Given the description of an element on the screen output the (x, y) to click on. 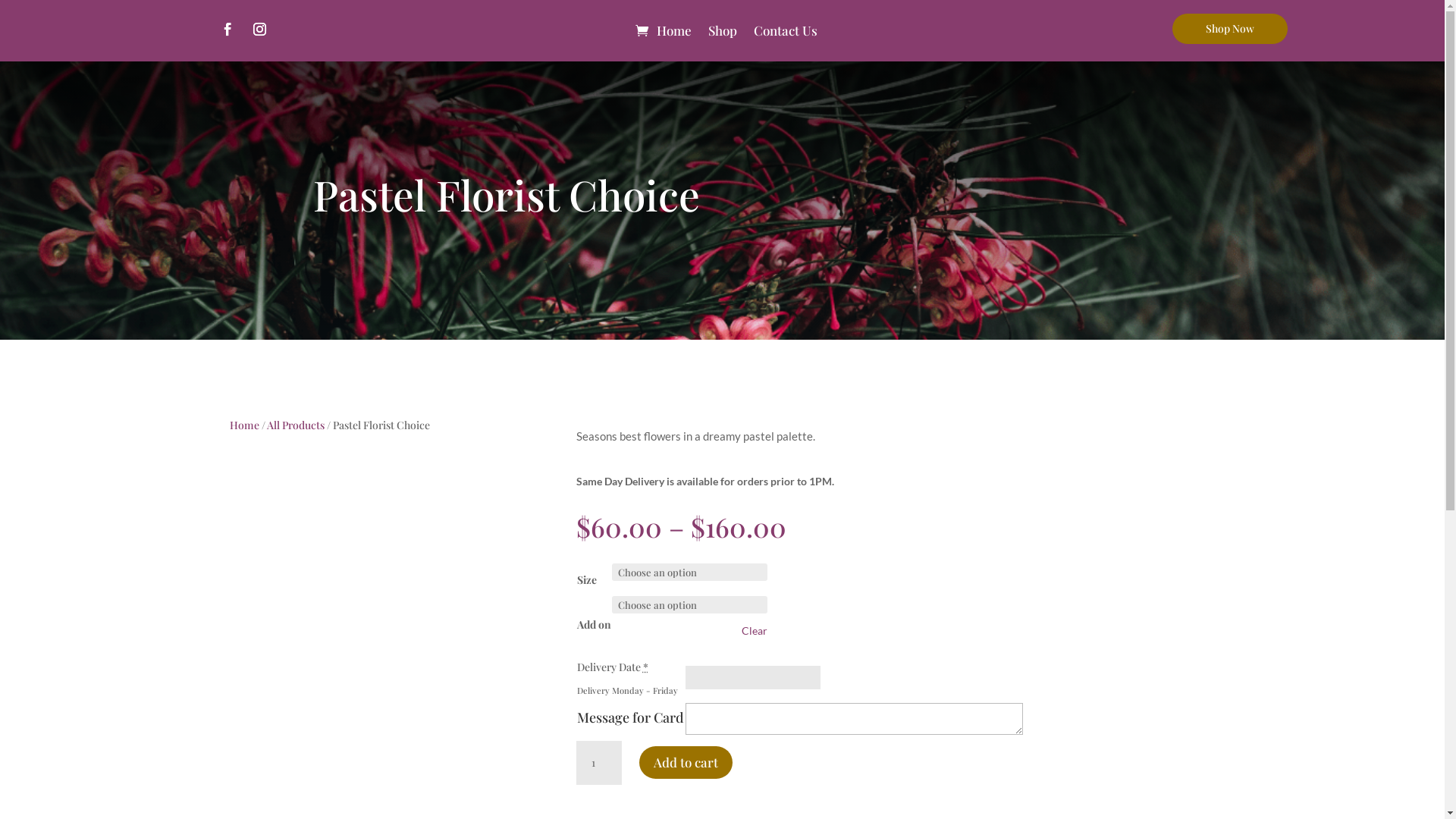
Follow on Instagram Element type: hover (260, 29)
Follow on Facebook Element type: hover (228, 29)
Shop Now Element type: text (1229, 28)
Clear Element type: text (754, 630)
Contact Us Element type: text (785, 30)
Home Element type: text (243, 424)
Home Element type: text (673, 30)
Shop Element type: text (722, 30)
Add to cart Element type: text (685, 762)
All Products Element type: text (295, 424)
